Given the description of an element on the screen output the (x, y) to click on. 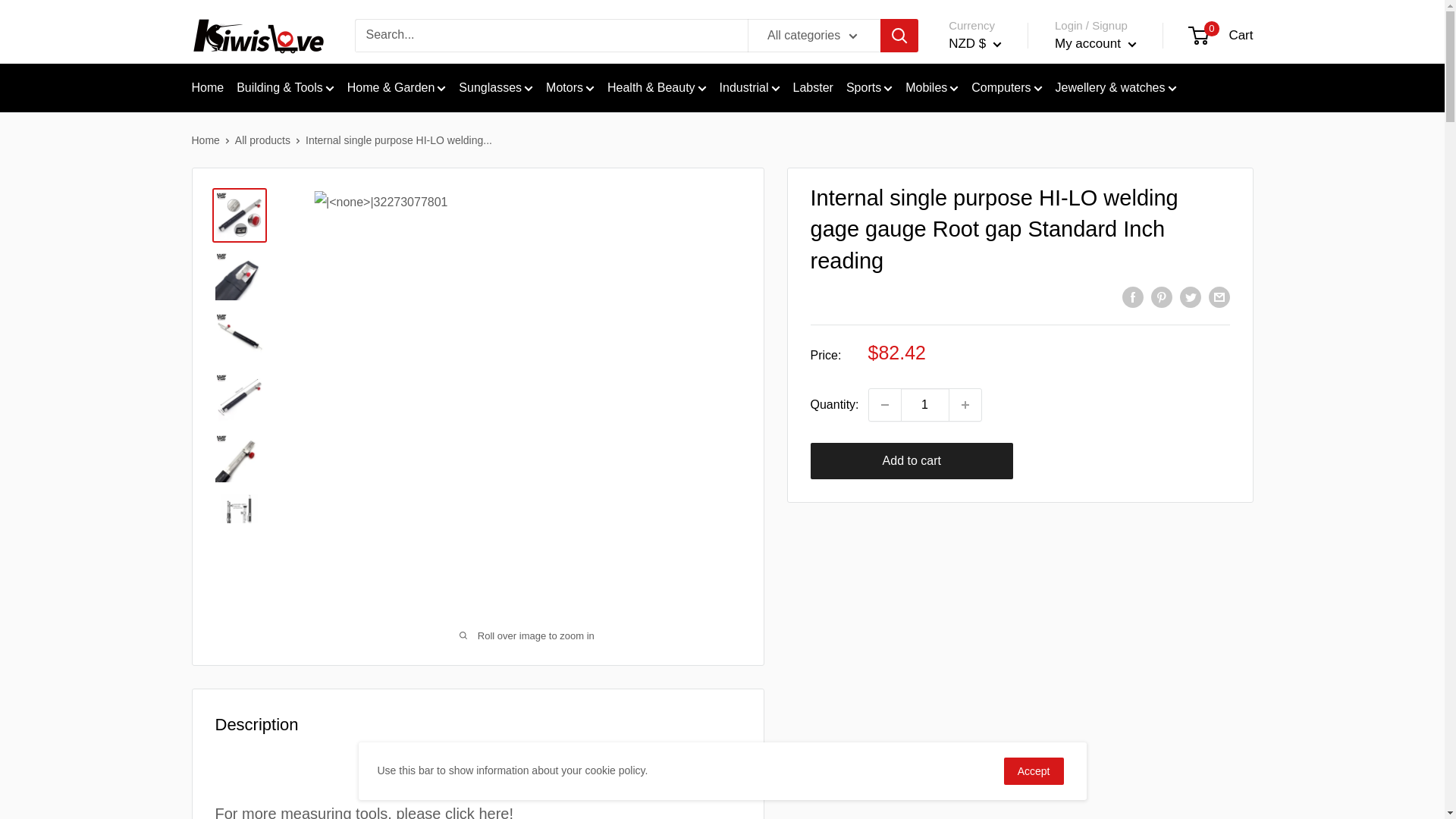
1 (925, 404)
Decrease quantity by 1 (885, 404)
Increase quantity by 1 (965, 404)
